Given the description of an element on the screen output the (x, y) to click on. 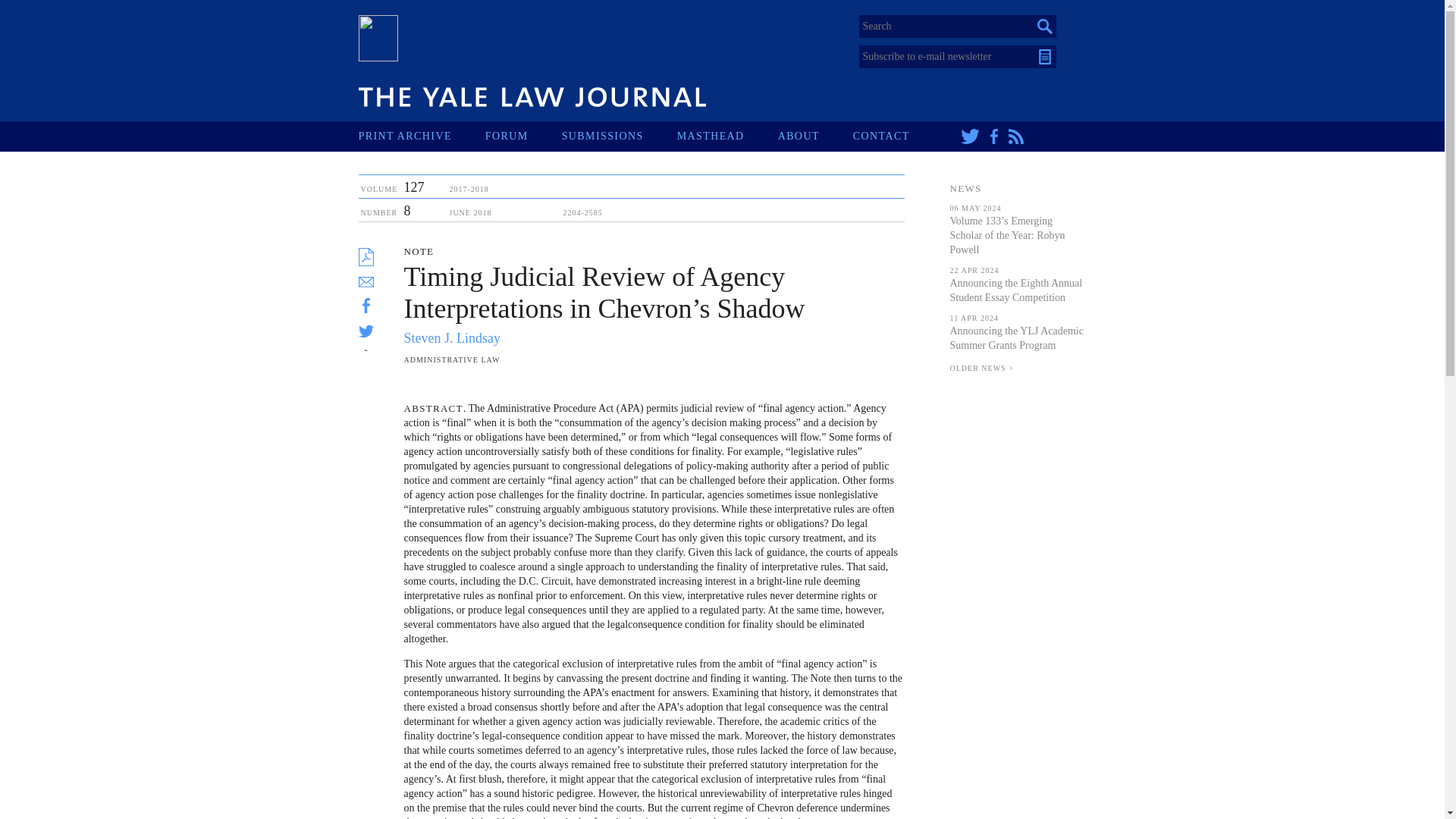
Announcing the Eighth Annual Student Essay Competition (1015, 290)
FORUM (523, 136)
ADMINISTRATIVE LAW (451, 359)
ABOUT (815, 136)
NEWS (965, 188)
PRINT ARCHIVE (421, 136)
NOTE (418, 251)
SUBMISSIONS (619, 136)
Steven J. Lindsay (451, 337)
CONTACT (898, 136)
